Given the description of an element on the screen output the (x, y) to click on. 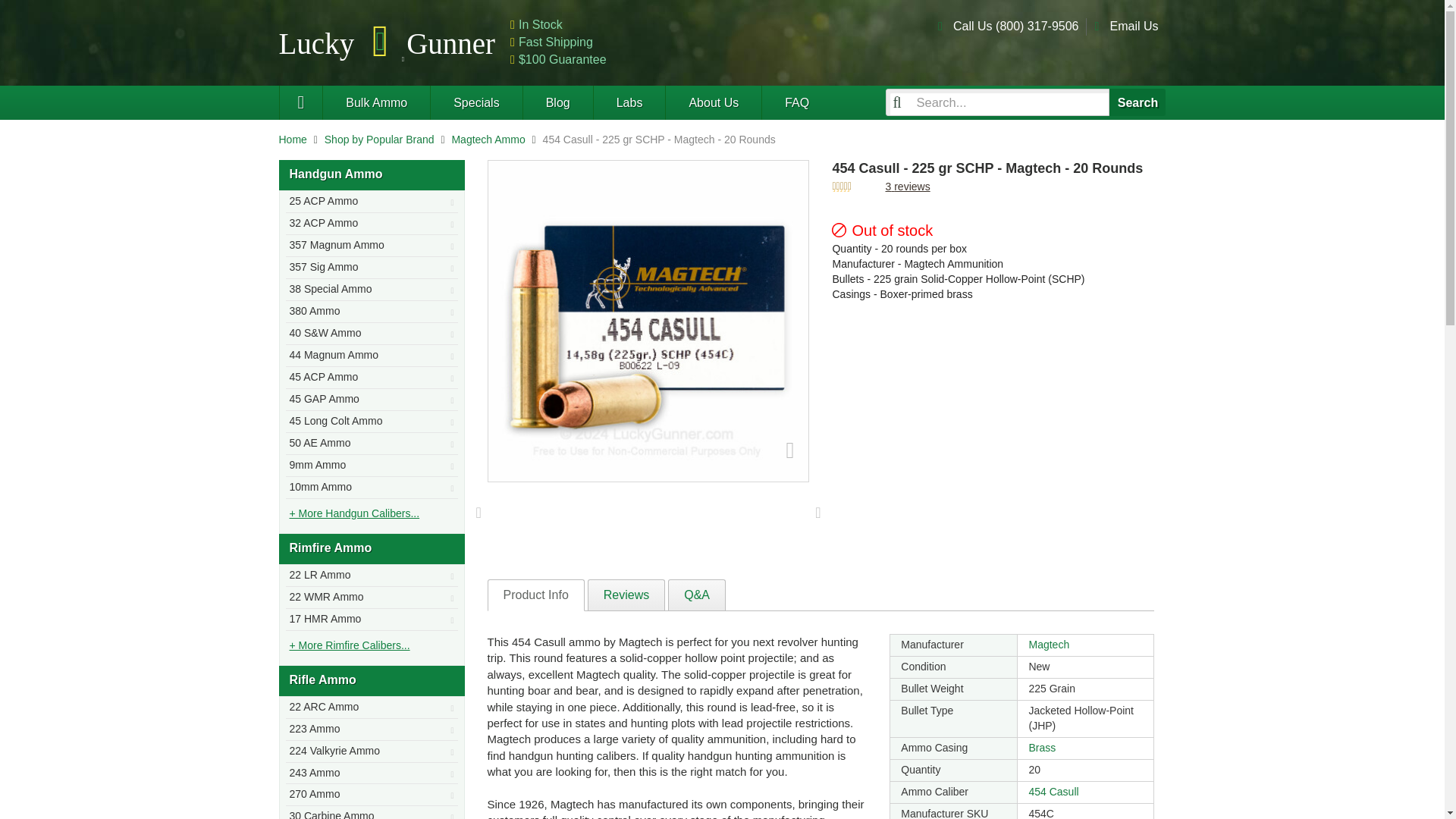
Search (1137, 102)
Bulk Ammunition (375, 102)
Email Us (1133, 25)
Special Ammunition Deals (475, 102)
The Lucky Gunner Lounge (557, 102)
Home (293, 139)
Cheap Ammo For Sale at Lucky Gunner (387, 42)
Lucky Gunner (301, 102)
Read reviews about this Magtech Ammo (907, 186)
Email Us (1133, 25)
Magtech Ammo (487, 139)
FAQ (796, 102)
Call Us (1015, 25)
About Lucky Gunner (713, 102)
LuckyGunner's Ammunition Laboratory (628, 102)
